Given the description of an element on the screen output the (x, y) to click on. 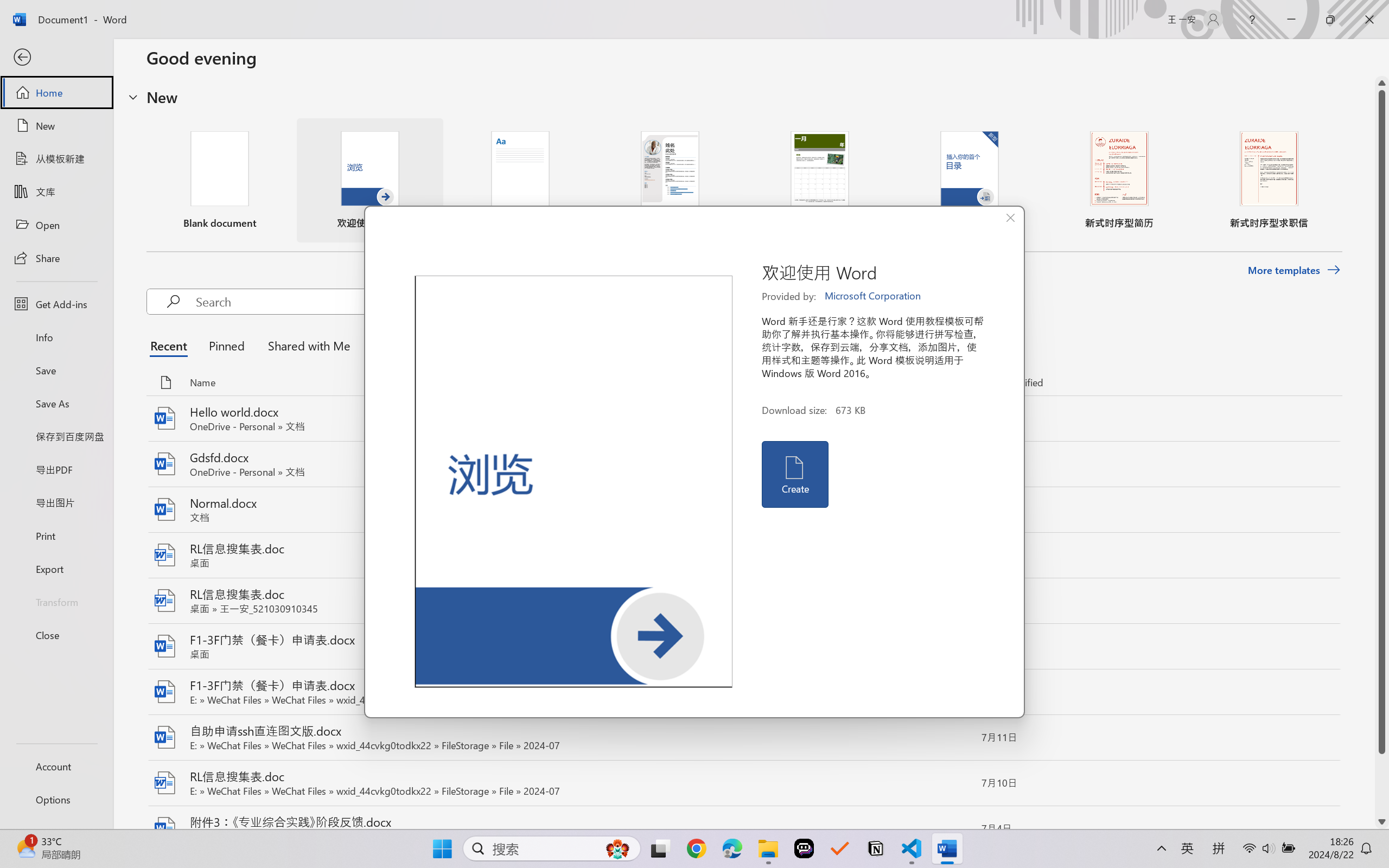
Create (794, 473)
Microsoft Corporation (873, 296)
Pin this item to the list (954, 828)
Pinned (226, 345)
Recent (171, 345)
Normal.docx (743, 509)
